Given the description of an element on the screen output the (x, y) to click on. 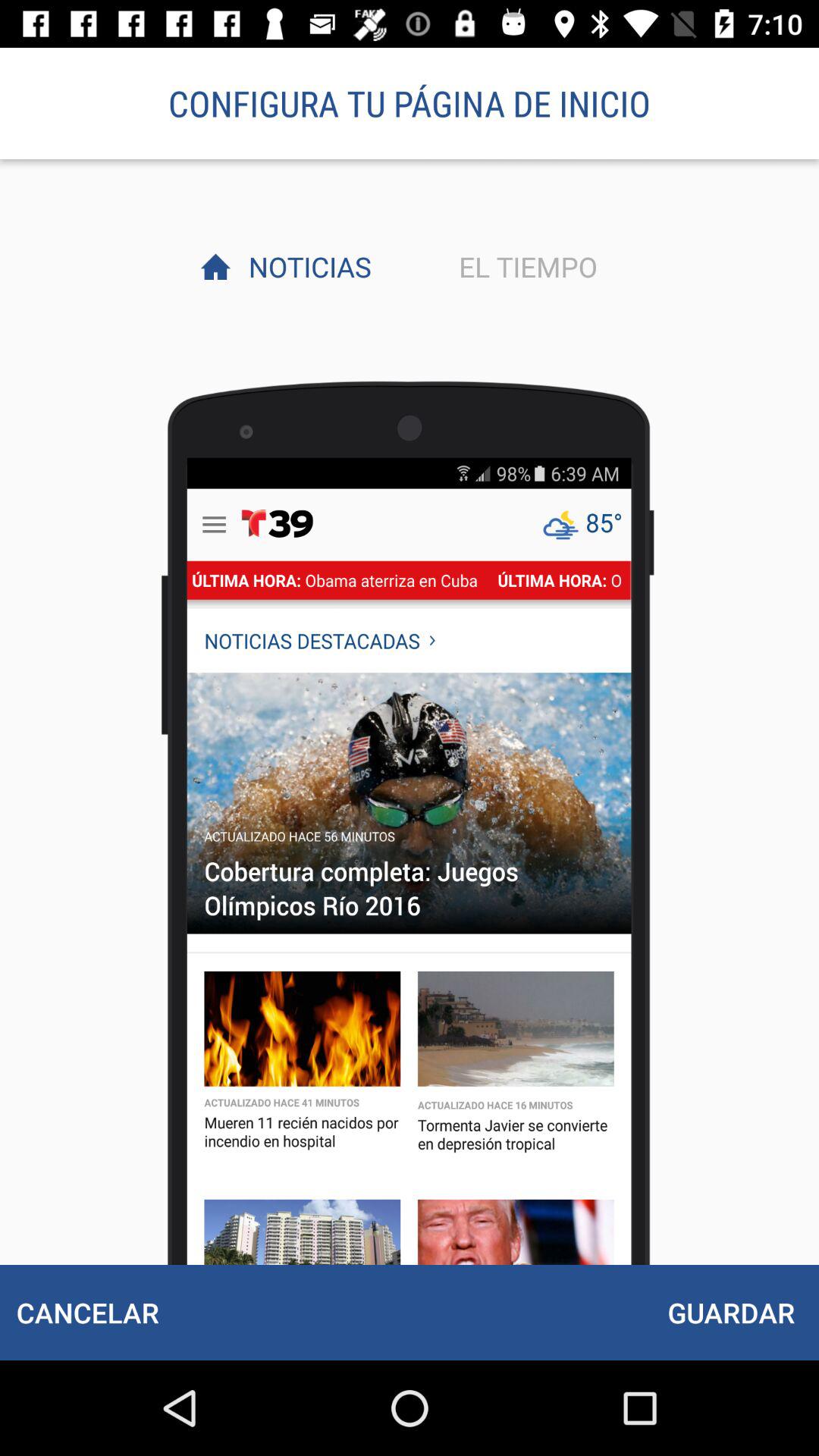
choose the guardar item (731, 1312)
